Given the description of an element on the screen output the (x, y) to click on. 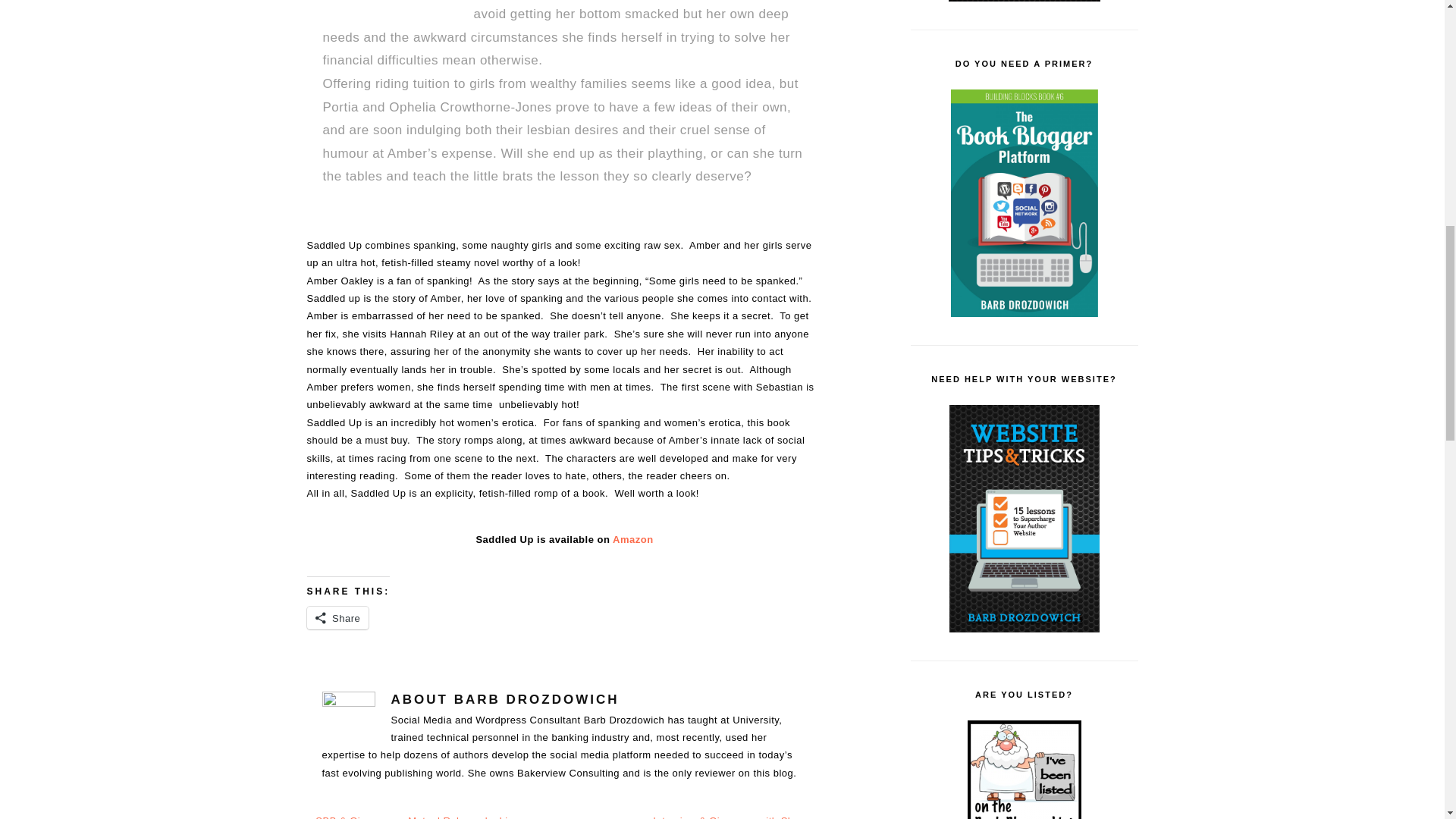
Share (336, 617)
Amazon (632, 539)
